Given the description of an element on the screen output the (x, y) to click on. 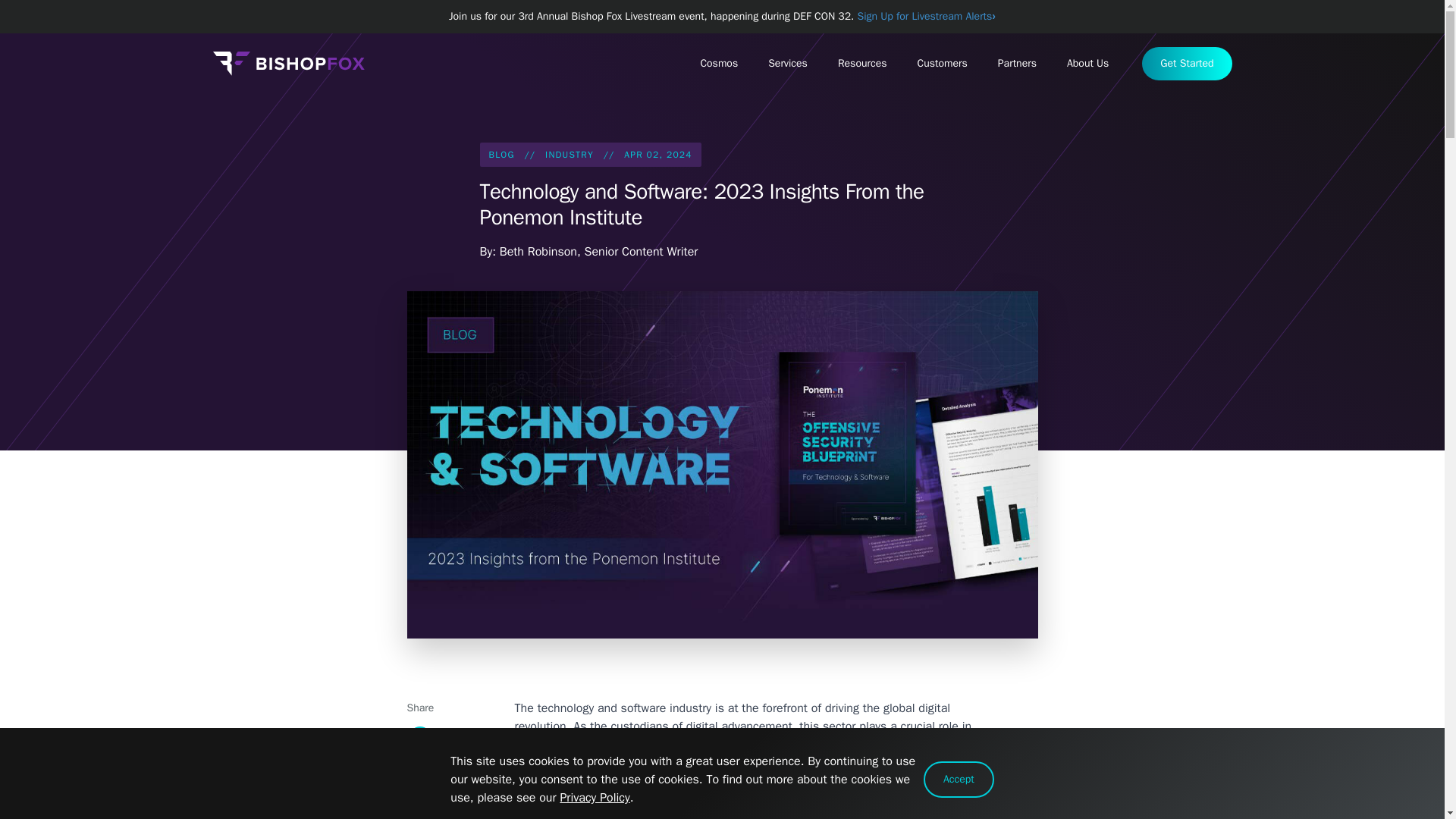
Customers (942, 63)
Partners (1016, 63)
Cosmos (718, 63)
Get Started (1186, 63)
Services (787, 63)
About Us (1087, 63)
Resources (862, 63)
